Given the description of an element on the screen output the (x, y) to click on. 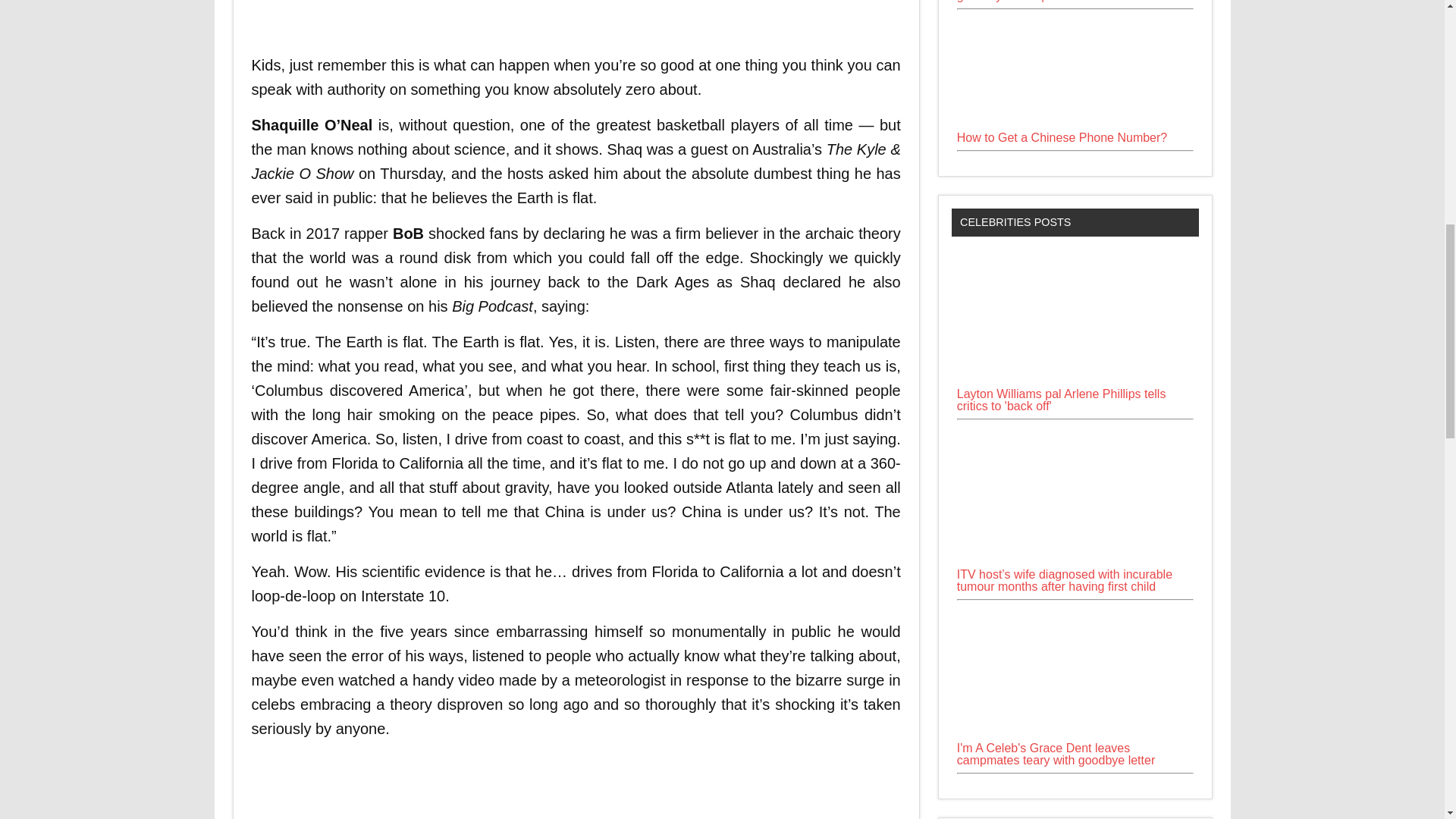
How to Get a Chinese Phone Number? (1061, 137)
Ripping apart "Flat Earthers" in under 5 minutes (493, 785)
How to Get a Chinese Phone Number? (1070, 124)
